Given the description of an element on the screen output the (x, y) to click on. 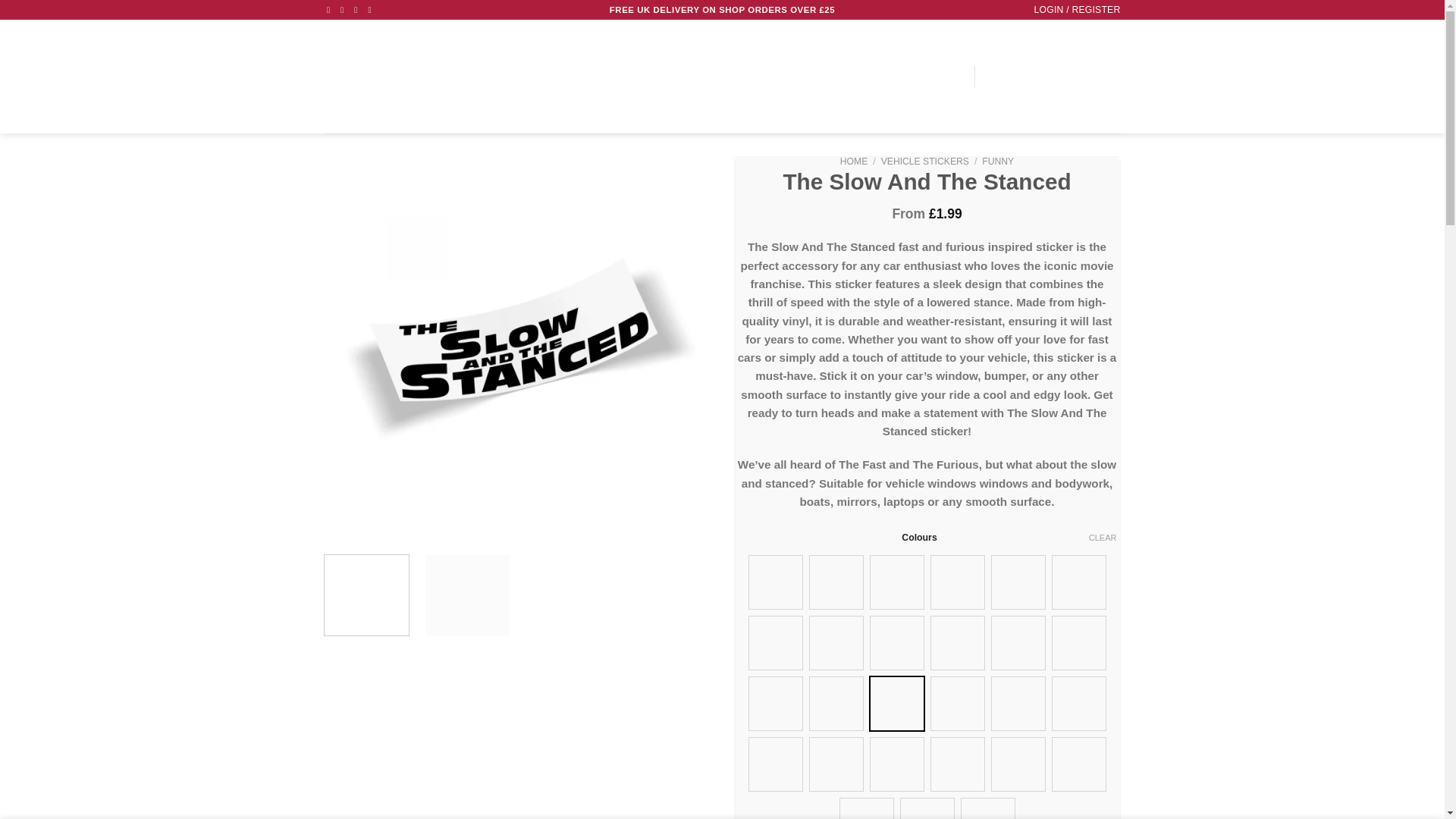
ABOUT US (771, 76)
Rose Gold Sparkles (775, 582)
Follow on Facebook (330, 9)
HOME (721, 76)
Grey (896, 582)
Login (1077, 9)
Bright Green (1018, 582)
CONTACT (939, 76)
Devil Prints UK - Signage, branding, vehicle graphics (386, 76)
SERVICES (834, 75)
Follow on TikTok (357, 9)
Basket (1071, 76)
Follow on Twitter (372, 9)
Perfect Purple (957, 582)
Apple Green (836, 582)
